Given the description of an element on the screen output the (x, y) to click on. 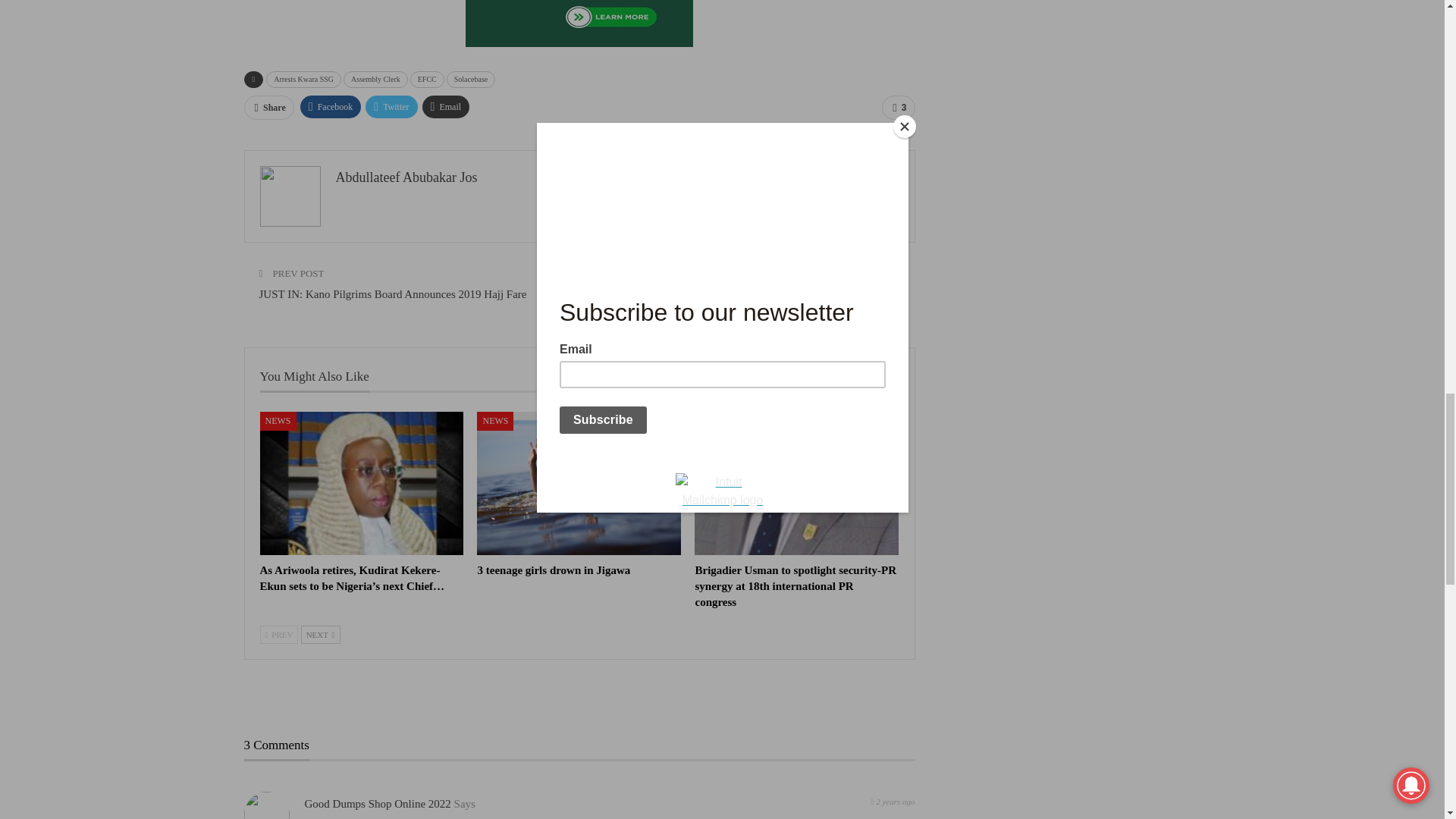
3 teenage girls drown in Jigawa (579, 482)
3 teenage girls drown in Jigawa (553, 570)
